Given the description of an element on the screen output the (x, y) to click on. 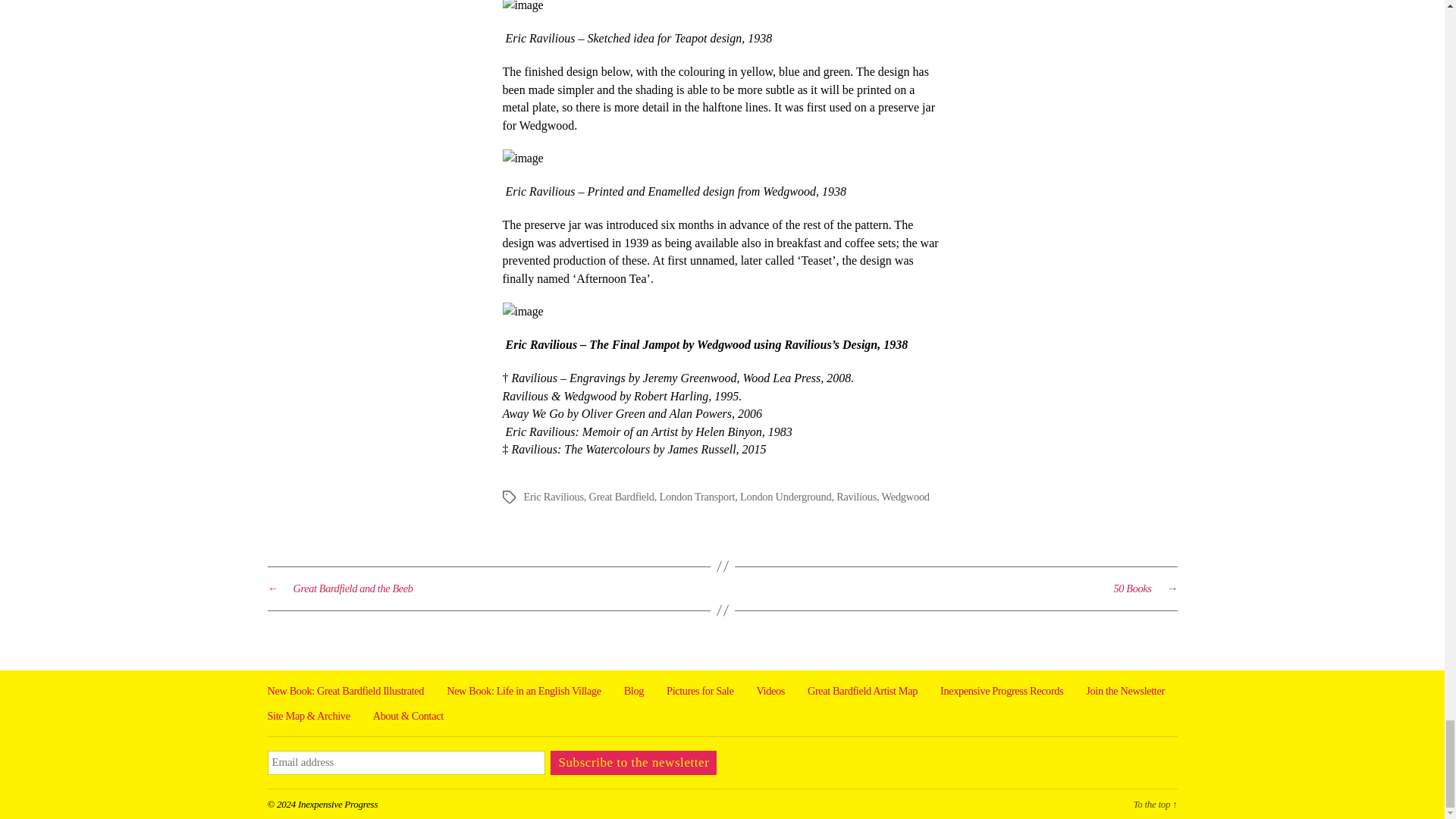
Inexpensive Progress Records (1001, 690)
Subscribe to the newsletter (633, 762)
Great Bardfield (621, 496)
New Book: Great Bardfield Illustrated (344, 690)
Blog (633, 690)
Eric Ravilious (552, 496)
London Underground (785, 496)
Pictures for Sale (699, 690)
Join the Newsletter (1125, 690)
Wedgwood (906, 496)
